Given the description of an element on the screen output the (x, y) to click on. 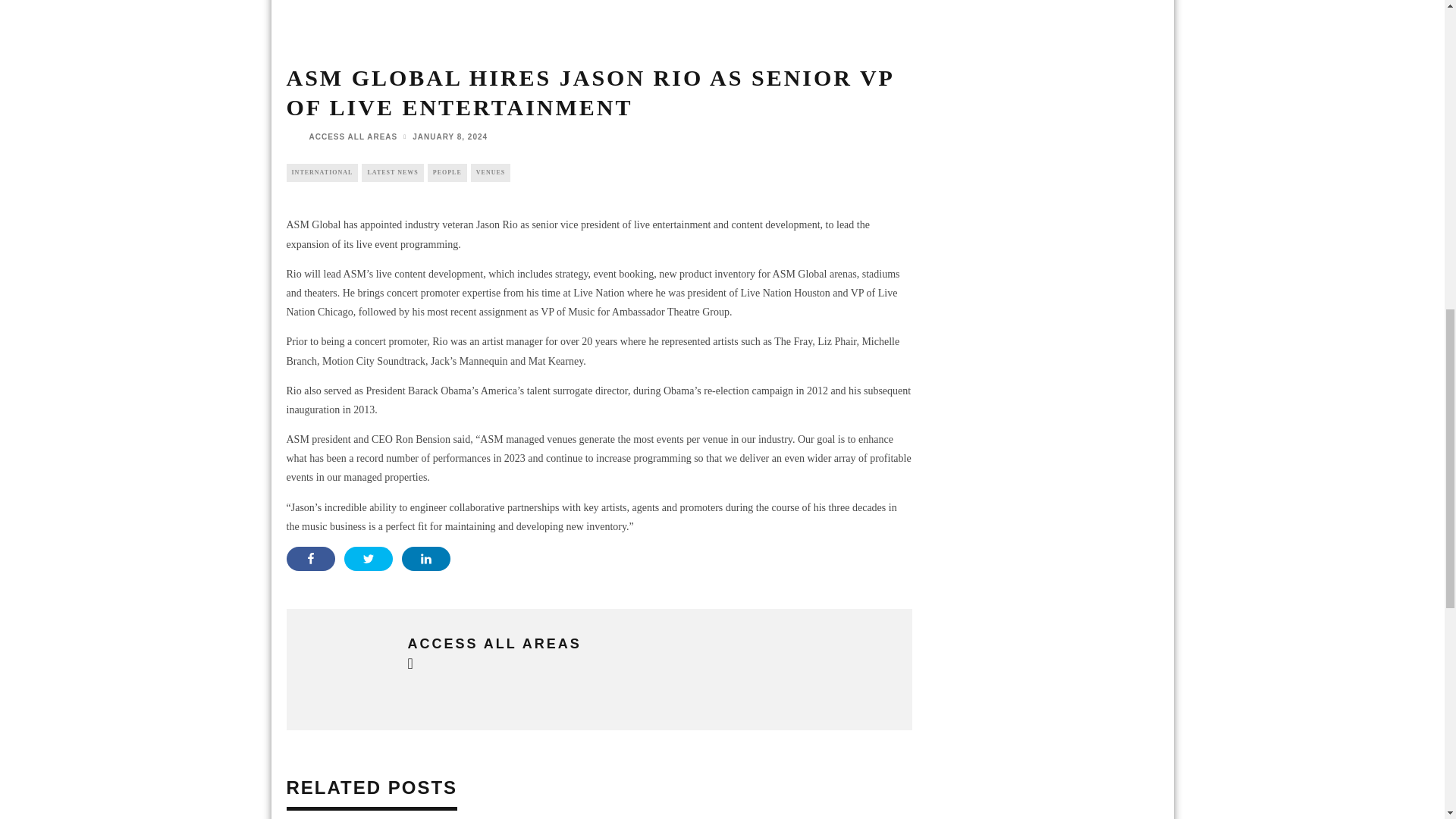
View all posts in International (322, 172)
View all posts in Venues (490, 172)
View all posts in People (447, 172)
Share on Facebook (310, 558)
View all posts in Latest News (392, 172)
Share on Twitter (368, 558)
Share on LinkedIn (425, 558)
